Given the description of an element on the screen output the (x, y) to click on. 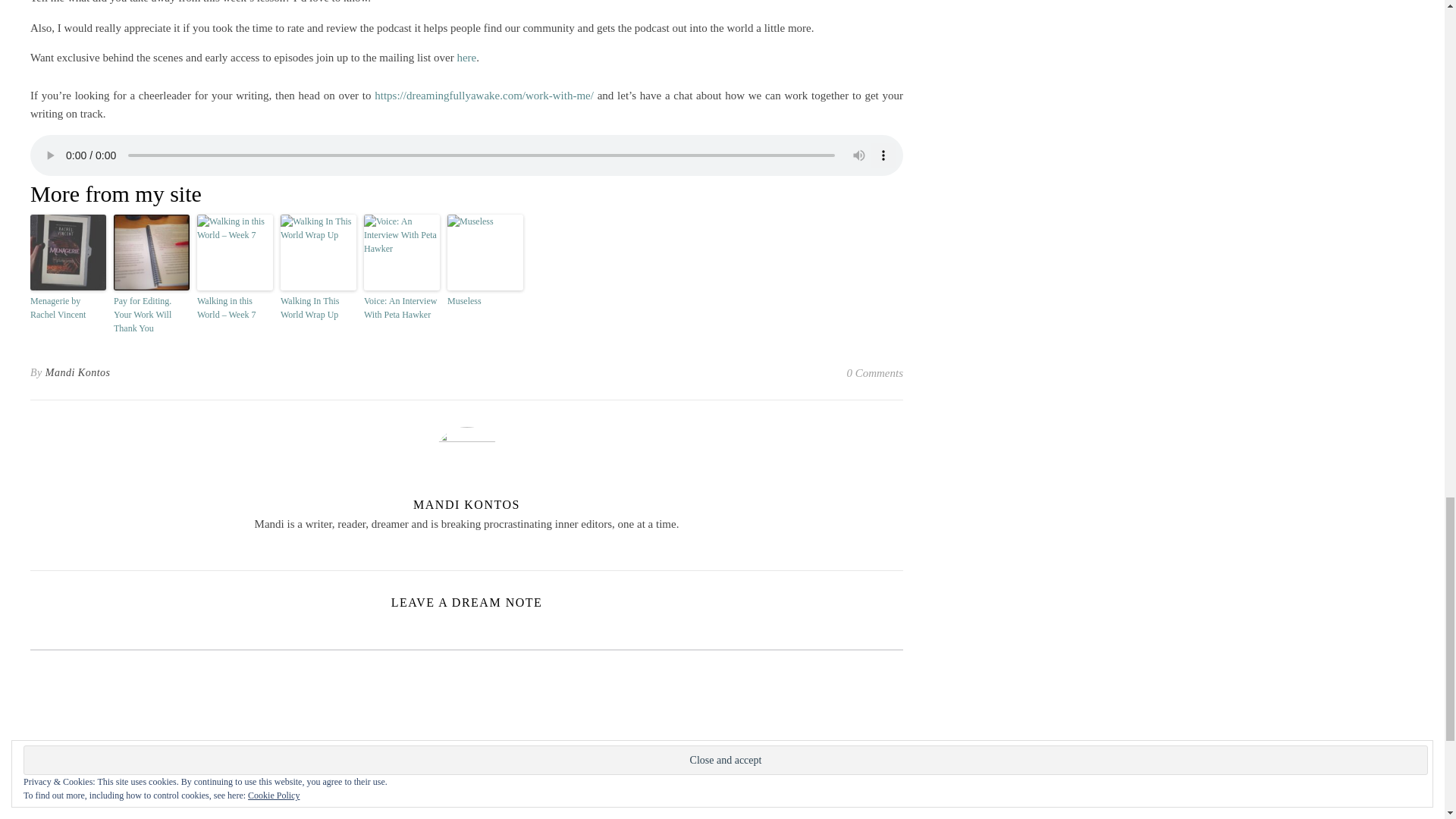
Menagerie by Rachel Vincent (68, 307)
Pay for Editing. Your Work Will Thank You (151, 314)
here (466, 57)
Posts by Mandi Kontos (466, 504)
Walking In This World Wrap Up (318, 307)
Posts by Mandi Kontos (77, 372)
